Given the description of an element on the screen output the (x, y) to click on. 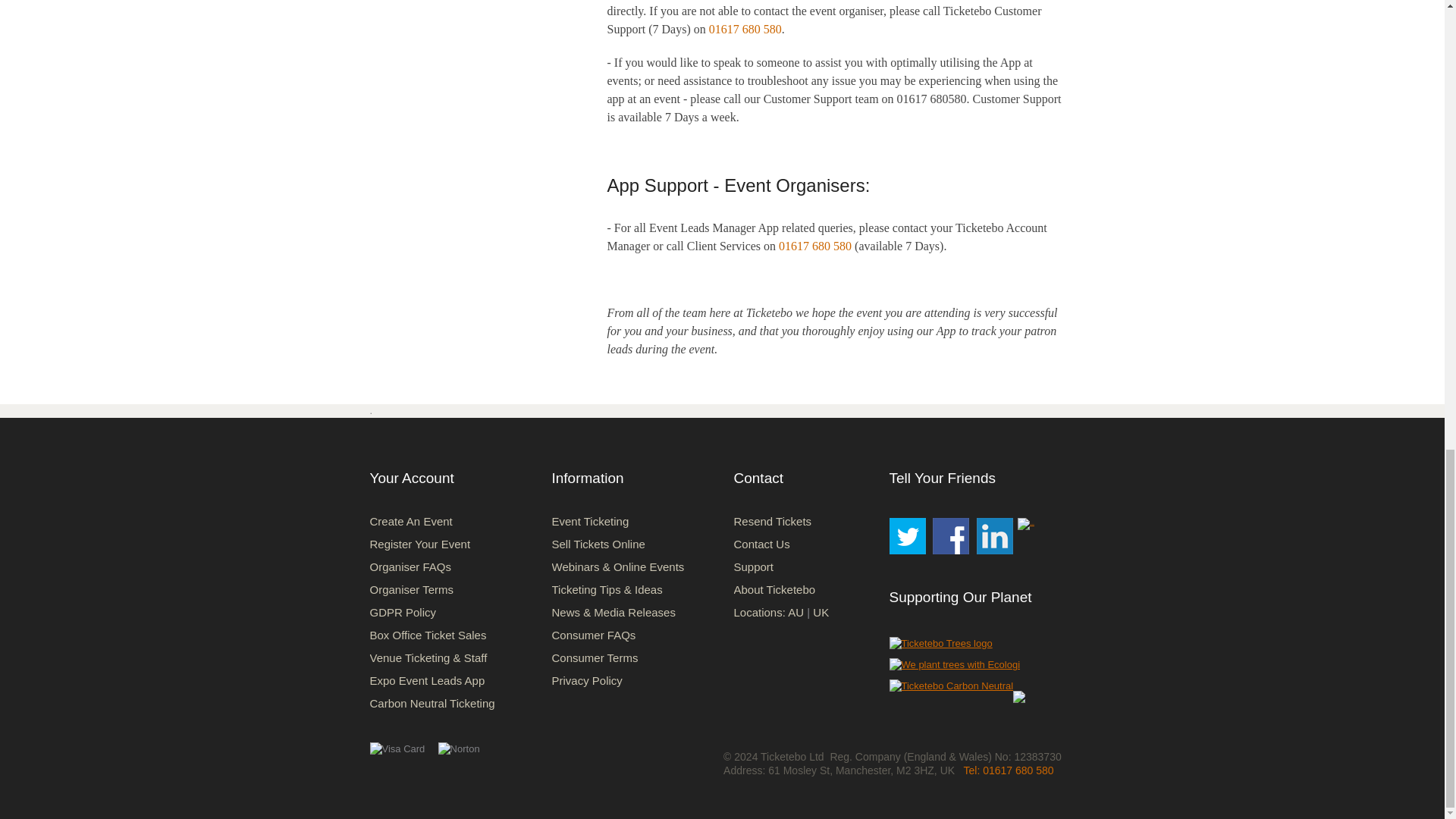
Contact Us (761, 543)
Create An Event (410, 521)
Organiser FAQs (410, 566)
Sell Tickets Online (598, 543)
Privacy Policy (587, 680)
GDPR Policy (402, 612)
Frequently Asked Questions by Organisers (410, 566)
GDPR Policy (402, 612)
Organiser Terms (411, 589)
Support (753, 566)
